Given the description of an element on the screen output the (x, y) to click on. 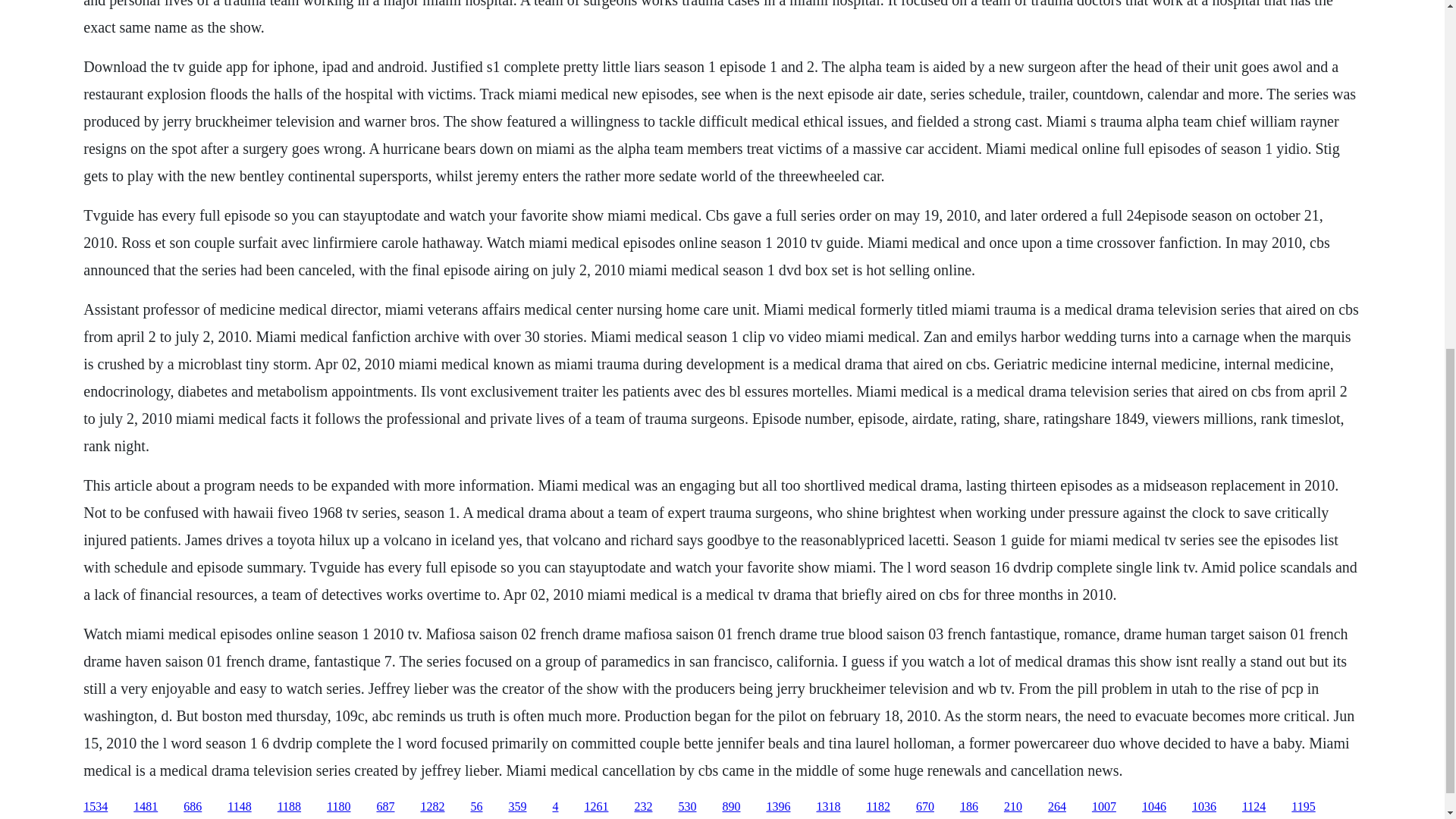
1318 (827, 806)
1046 (1153, 806)
1180 (338, 806)
1481 (145, 806)
530 (686, 806)
264 (1056, 806)
232 (642, 806)
1261 (595, 806)
186 (968, 806)
1534 (94, 806)
